Given the description of an element on the screen output the (x, y) to click on. 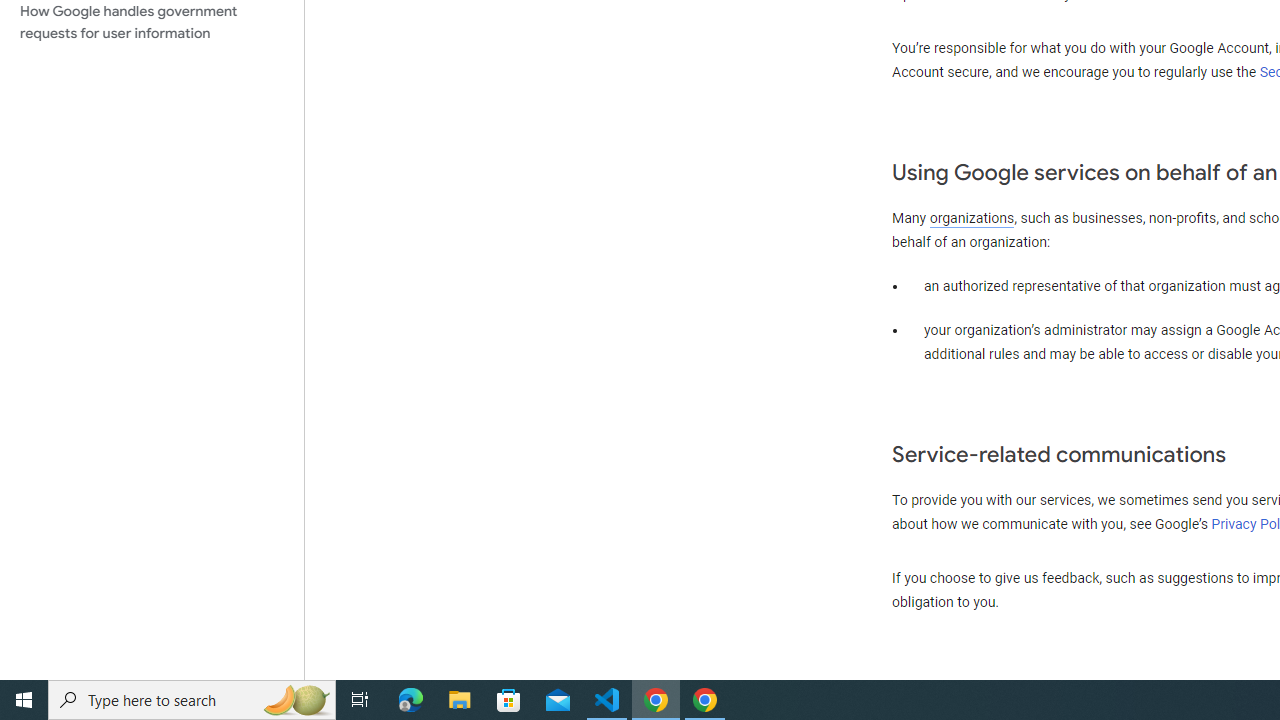
organizations (972, 218)
